Given the description of an element on the screen output the (x, y) to click on. 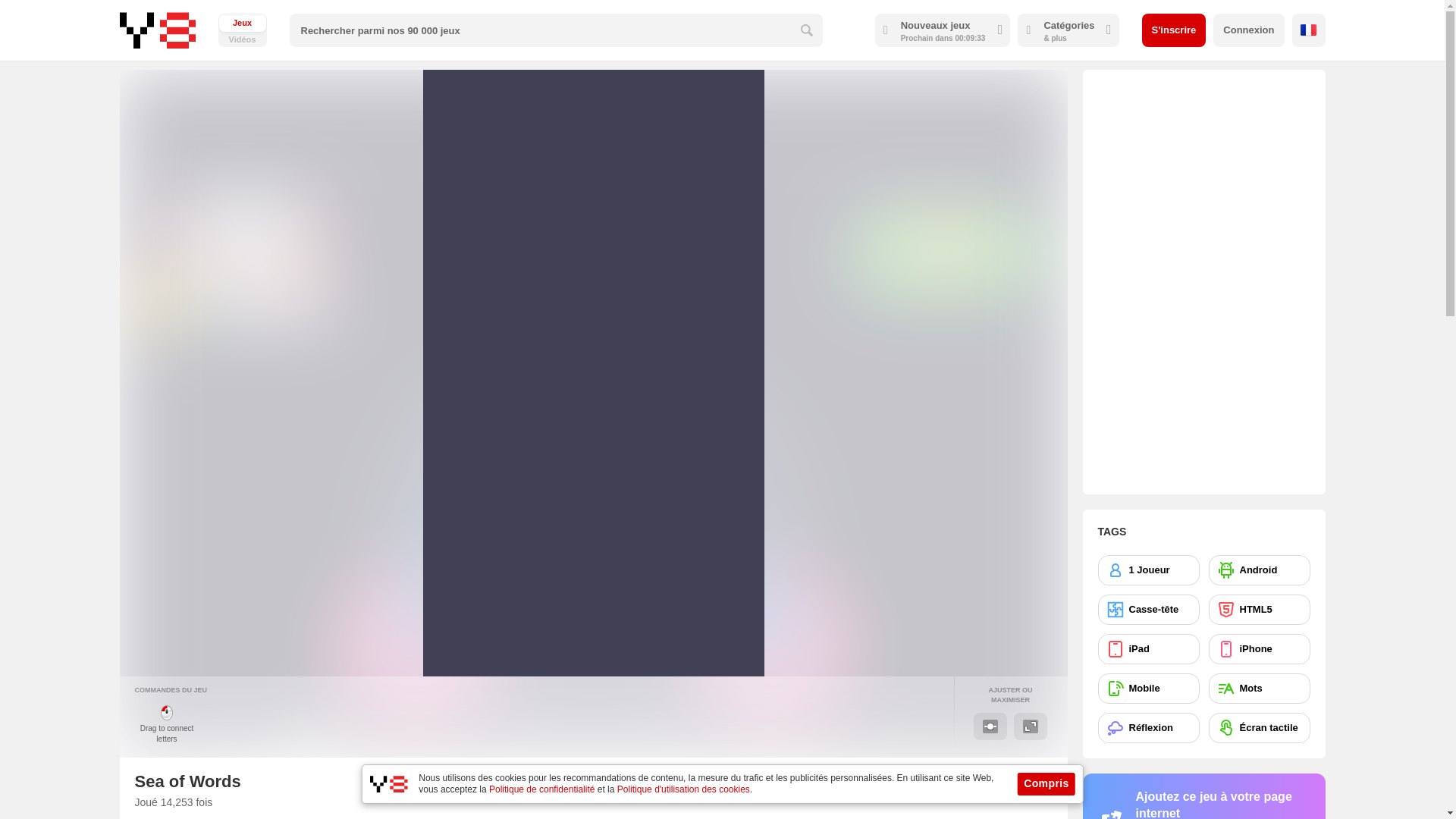
S'inscrire (1174, 29)
HTML5 (1259, 609)
Connexion (1248, 29)
iPad (1148, 648)
1 Joueur (1148, 570)
Android (1259, 570)
Mots (1259, 688)
Mobile (1148, 688)
Politique d'utilisation des cookies (683, 789)
iPhone (1259, 648)
